Given the description of an element on the screen output the (x, y) to click on. 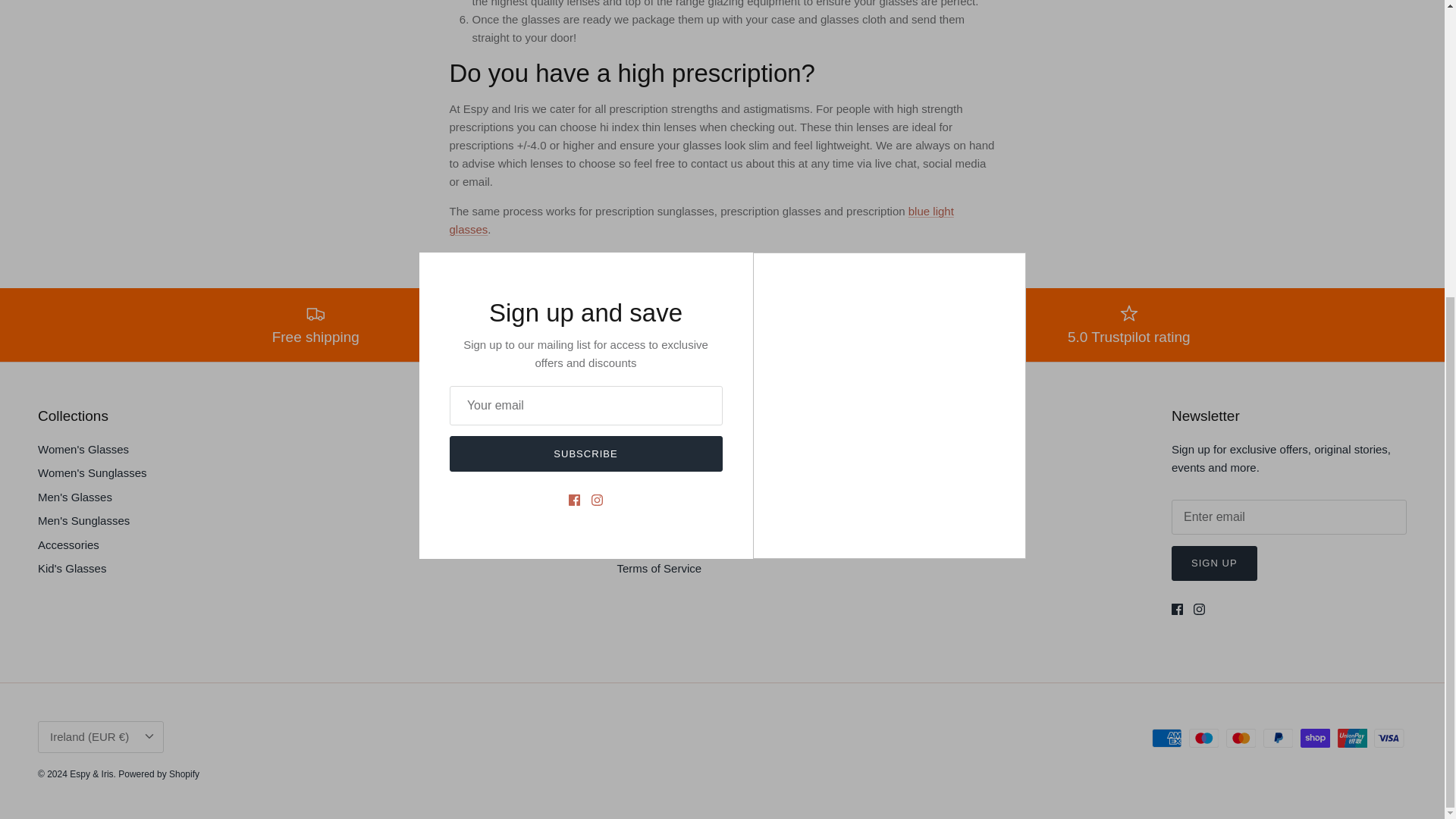
PayPal (1277, 737)
Facebook (1177, 609)
Union Pay (1352, 737)
Shop Pay (1315, 737)
American Express (1166, 737)
Instagram (1199, 609)
Maestro (1203, 737)
Down (148, 735)
Visa (1388, 737)
Mastercard (1240, 737)
